Given the description of an element on the screen output the (x, y) to click on. 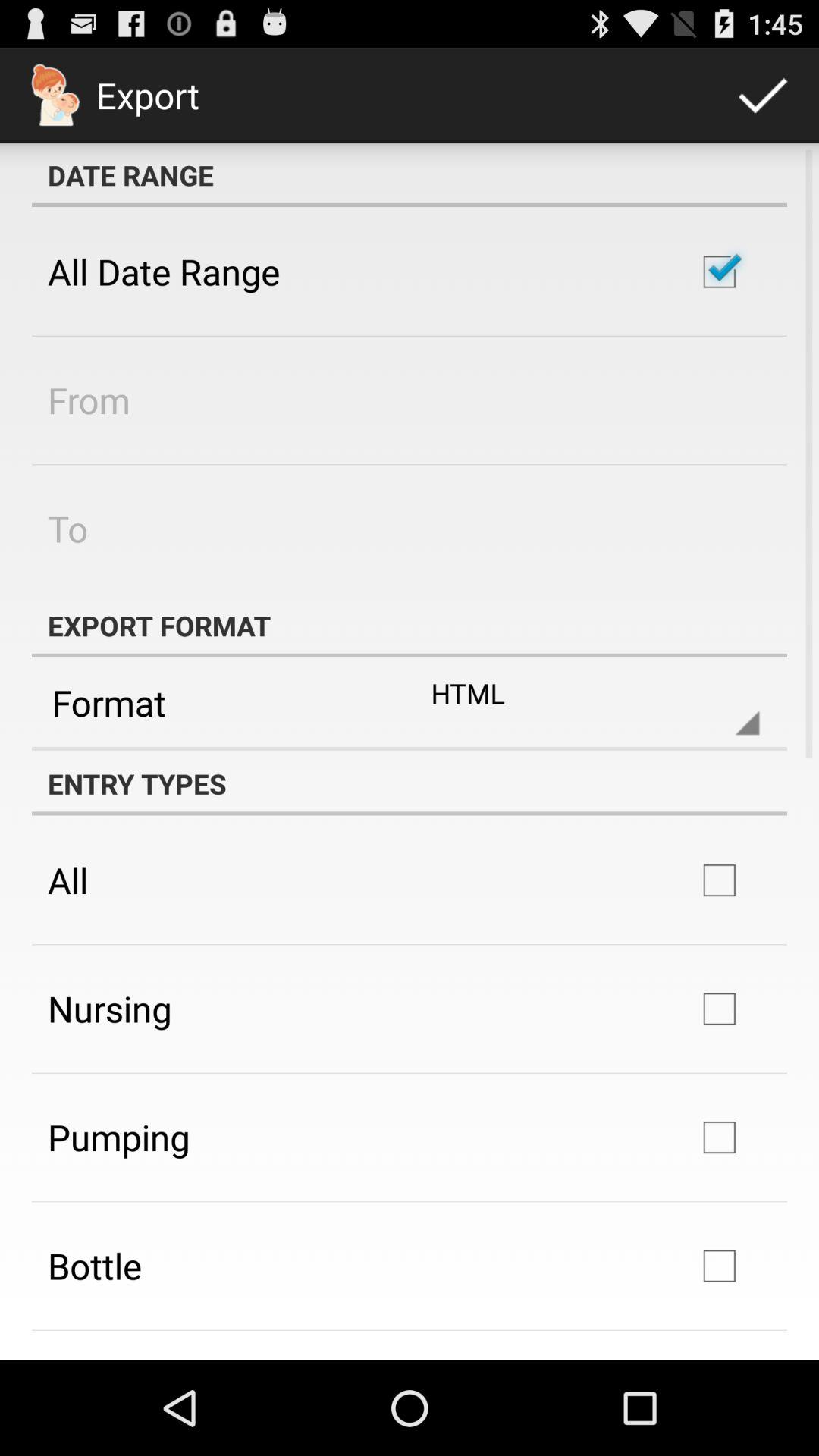
turn on icon above entry types item (409, 748)
